Given the description of an element on the screen output the (x, y) to click on. 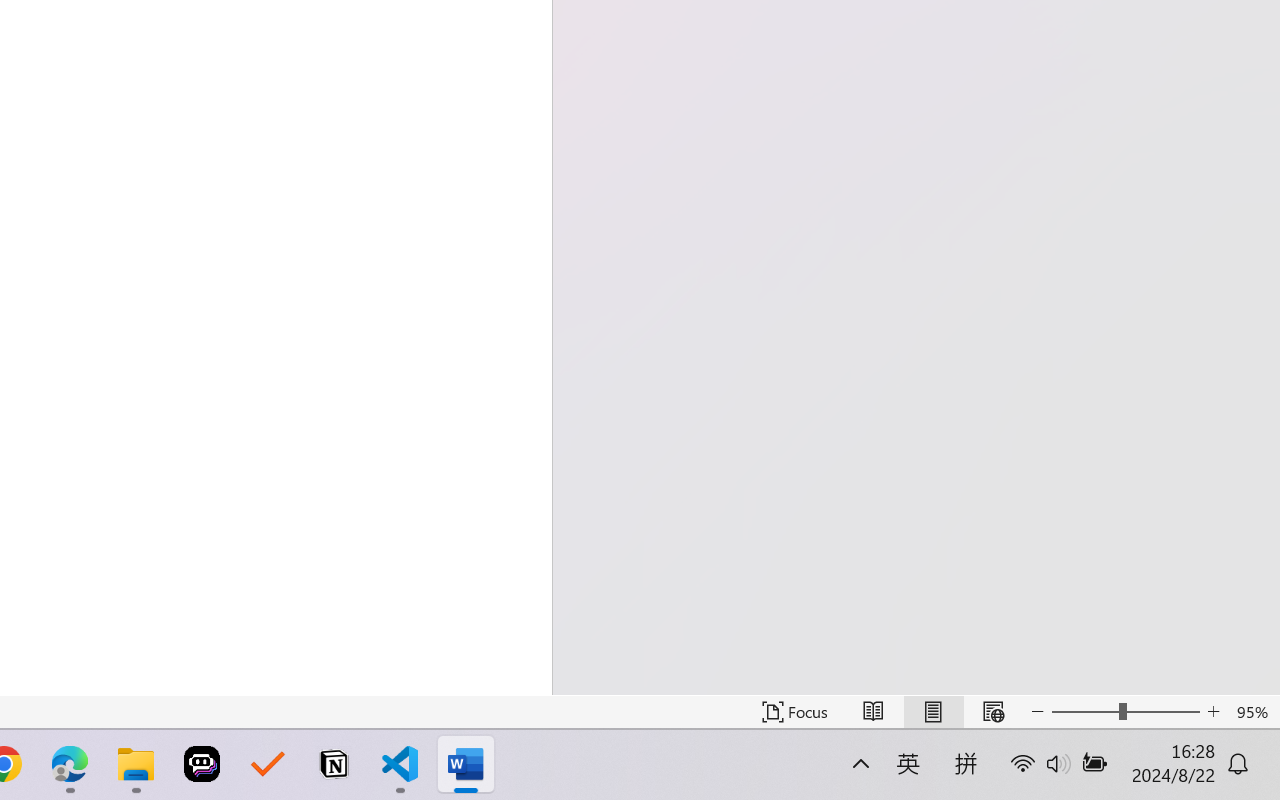
Zoom 95% (1253, 712)
